Given the description of an element on the screen output the (x, y) to click on. 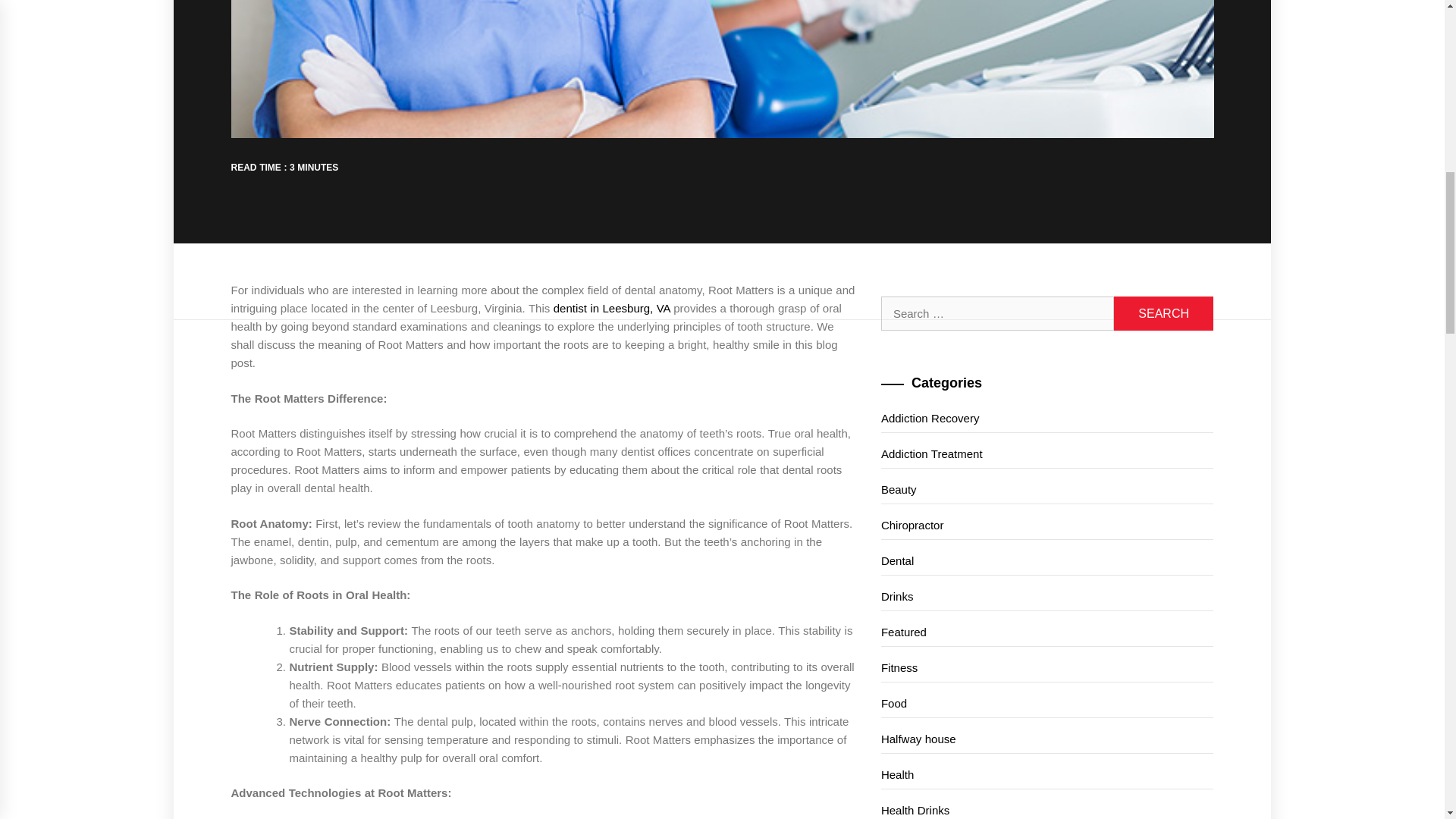
Addiction Treatment (1047, 454)
Search (1163, 313)
Beauty (1047, 489)
dentist in Leesburg, VA (611, 308)
Search (1163, 313)
Search (1163, 313)
Addiction Recovery (1047, 418)
